Given the description of an element on the screen output the (x, y) to click on. 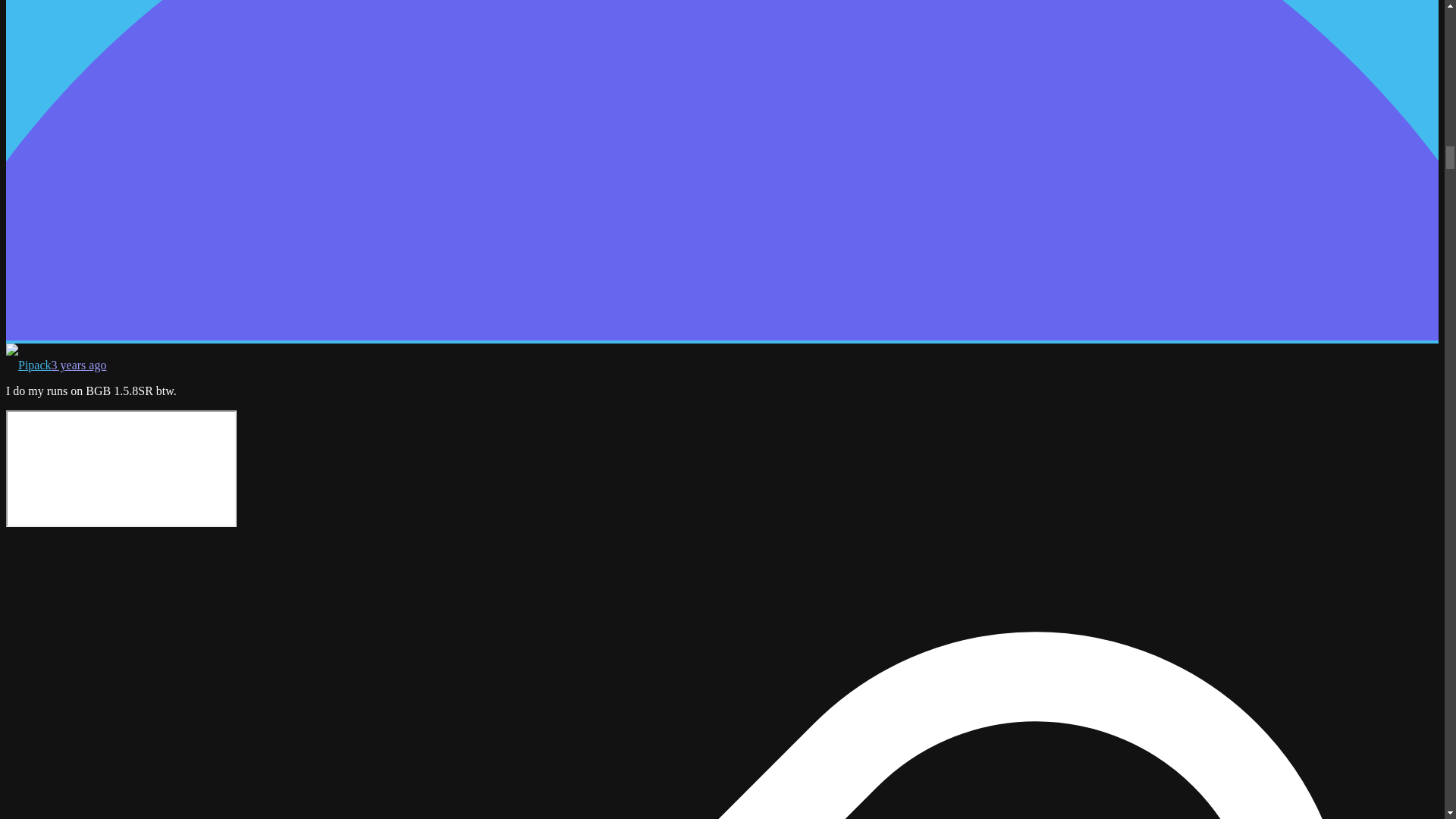
Pipack (27, 364)
